Given the description of an element on the screen output the (x, y) to click on. 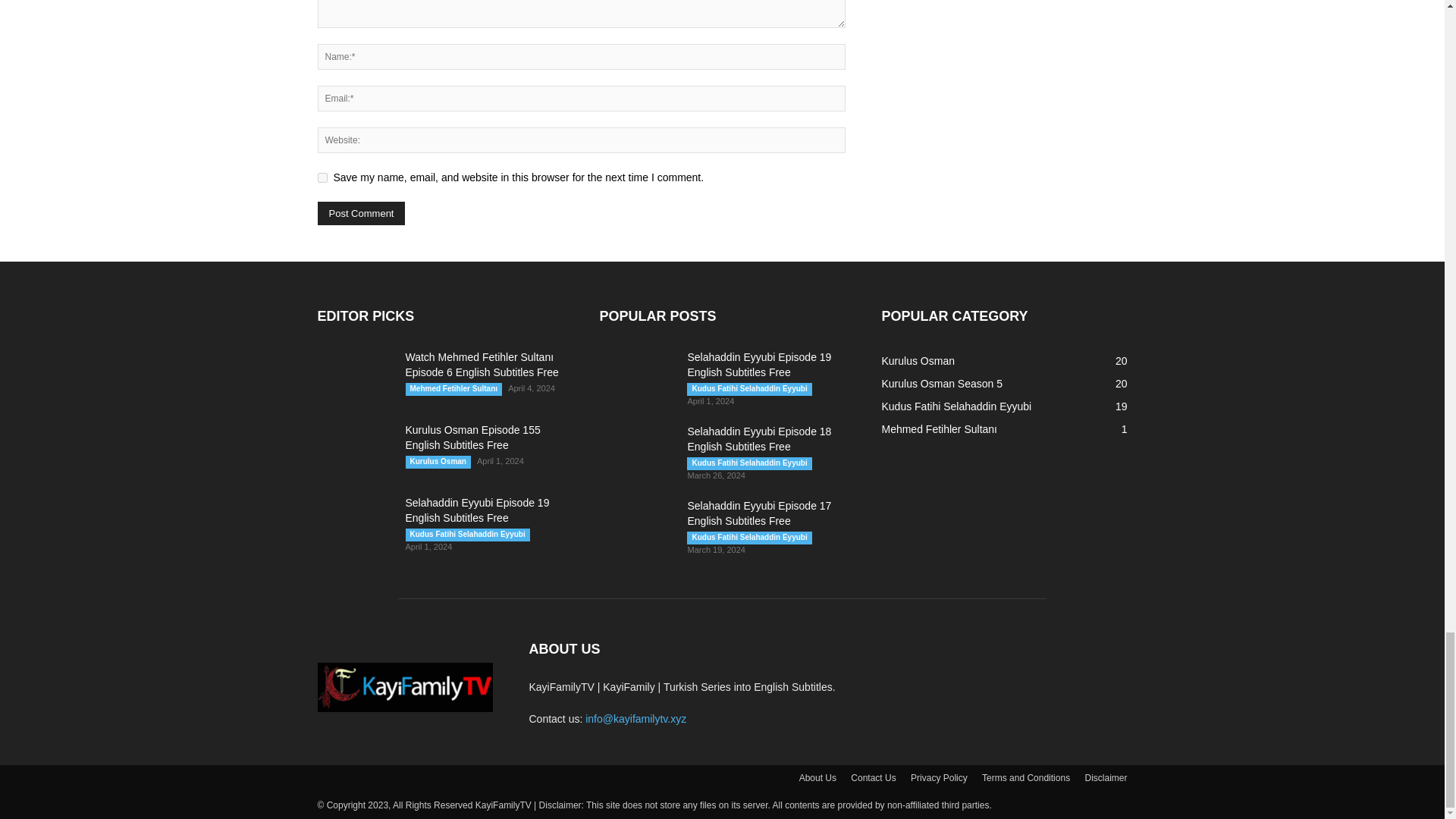
Post Comment (360, 213)
yes (321, 177)
